Given the description of an element on the screen output the (x, y) to click on. 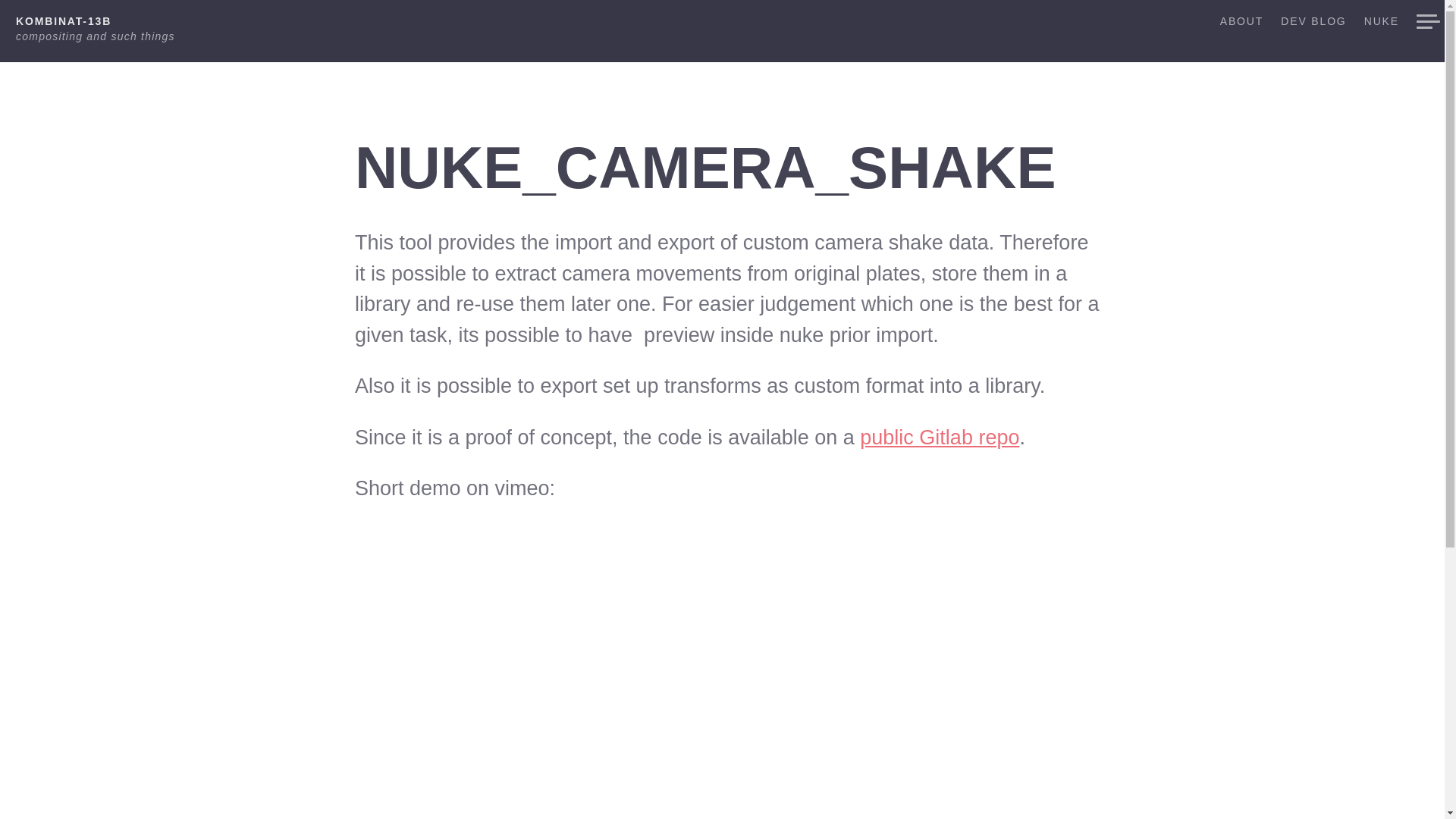
public Gitlab repo (939, 436)
KOMBINAT-13B (64, 21)
NUKE (1378, 25)
DEV BLOG (1311, 25)
ABOUT (1238, 25)
